Given the description of an element on the screen output the (x, y) to click on. 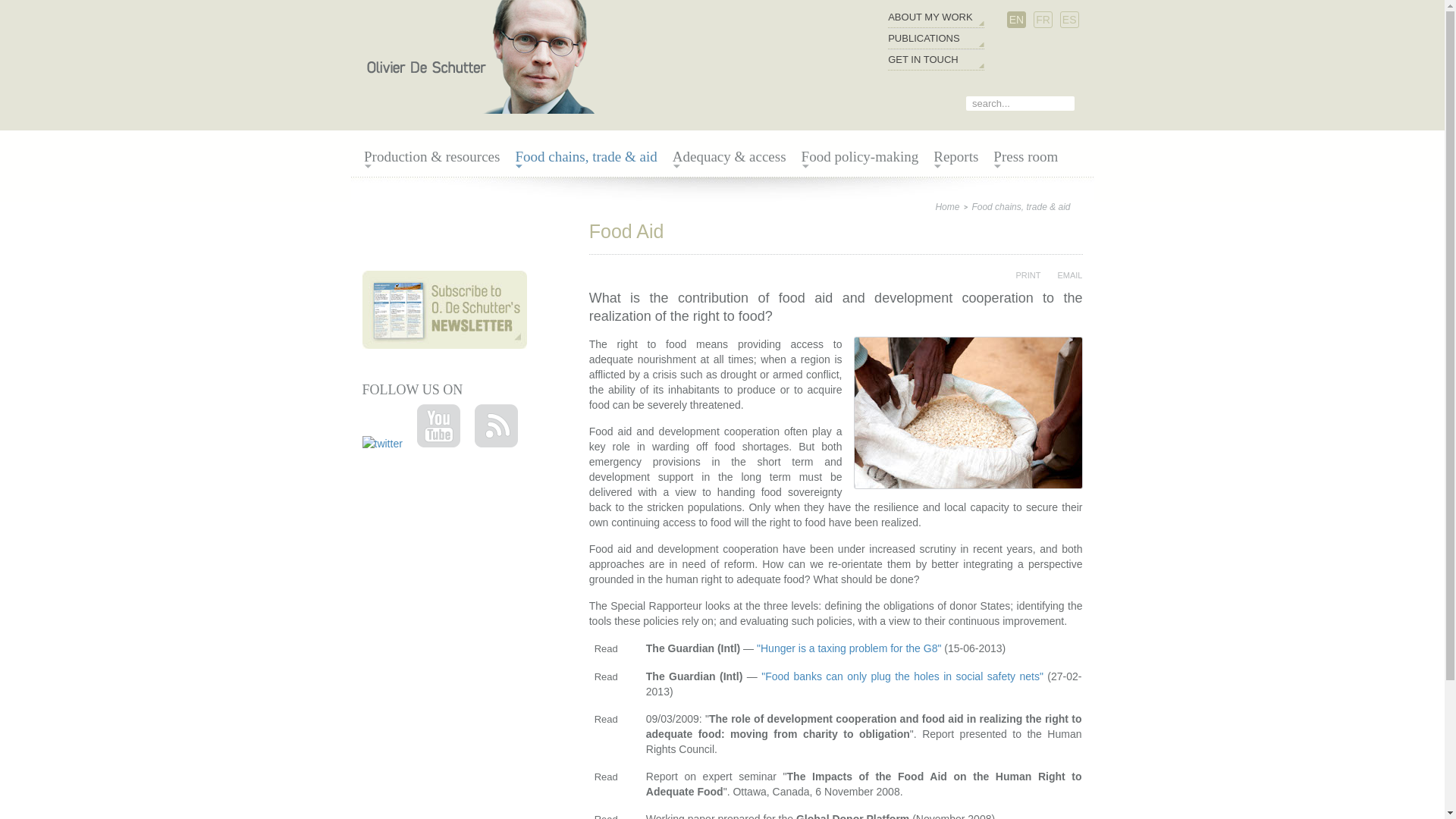
Search (1069, 104)
GET IN TOUCH (930, 59)
Press room (1025, 156)
ABOUT MY WORK (930, 17)
Reset (3, 2)
Reports (955, 156)
ES (1069, 19)
FR (1042, 19)
Email this link to a friend (1062, 274)
Food policy-making (859, 156)
